Given the description of an element on the screen output the (x, y) to click on. 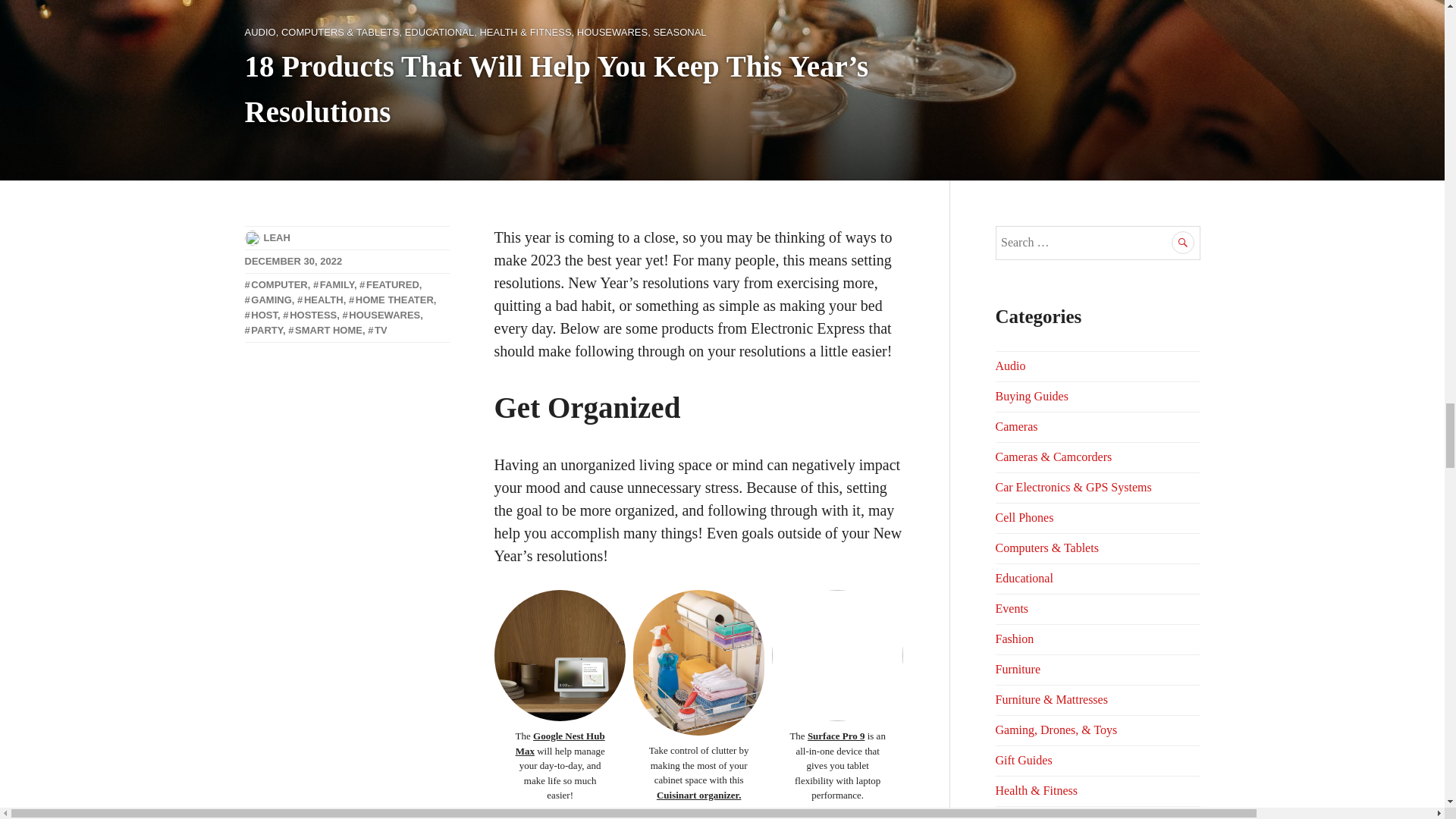
Search (1182, 241)
Search (1182, 241)
